Given the description of an element on the screen output the (x, y) to click on. 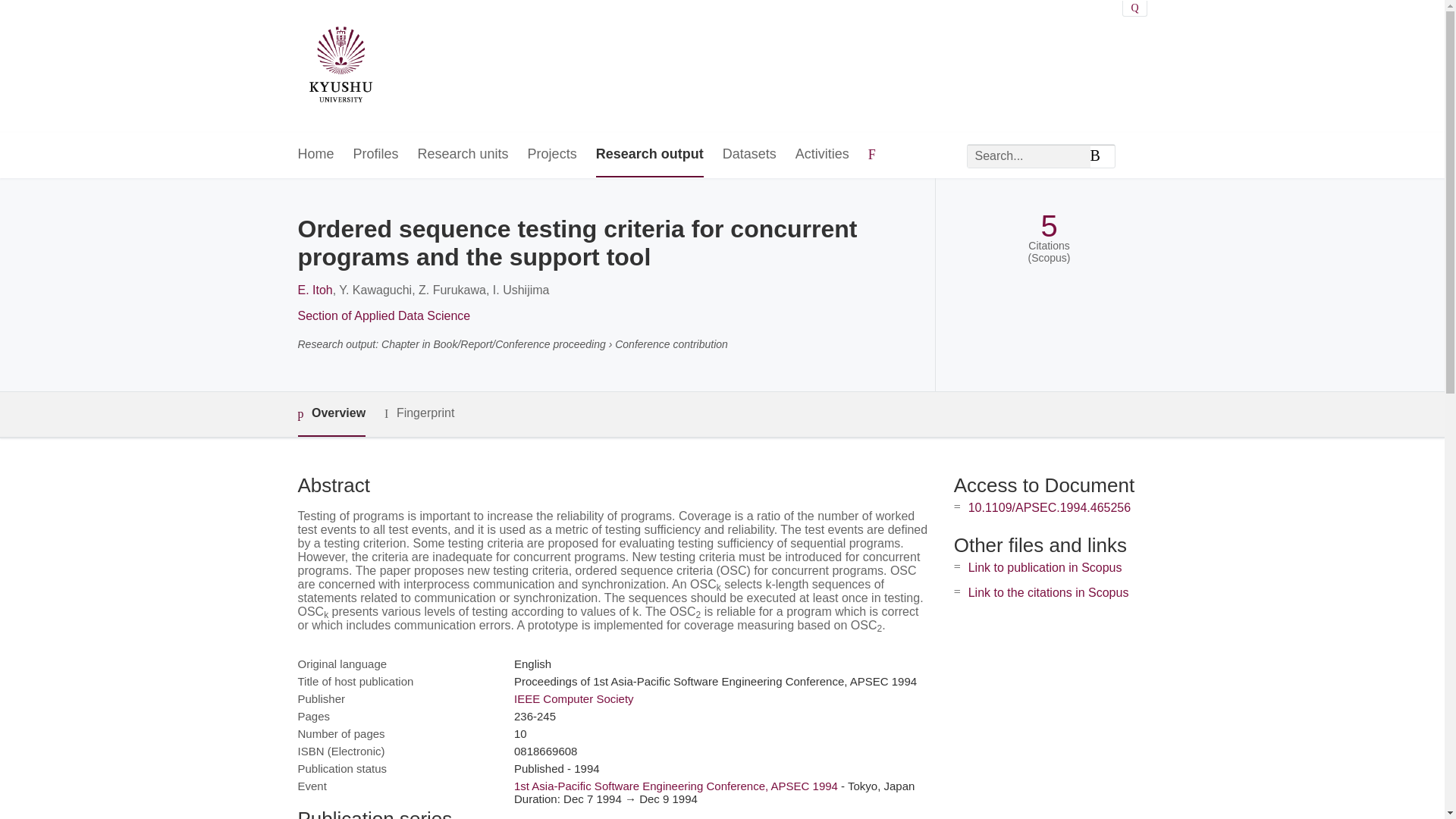
Projects (551, 154)
Fingerprint (419, 413)
IEEE Computer Society (573, 698)
E. Itoh (314, 289)
Link to the citations in Scopus (1048, 592)
Link to publication in Scopus (1045, 567)
Section of Applied Data Science (383, 315)
Research output (649, 154)
Profiles (375, 154)
1st Asia-Pacific Software Engineering Conference, APSEC 1994 (675, 785)
Overview (331, 414)
Research units (462, 154)
Datasets (749, 154)
Activities (821, 154)
